Given the description of an element on the screen output the (x, y) to click on. 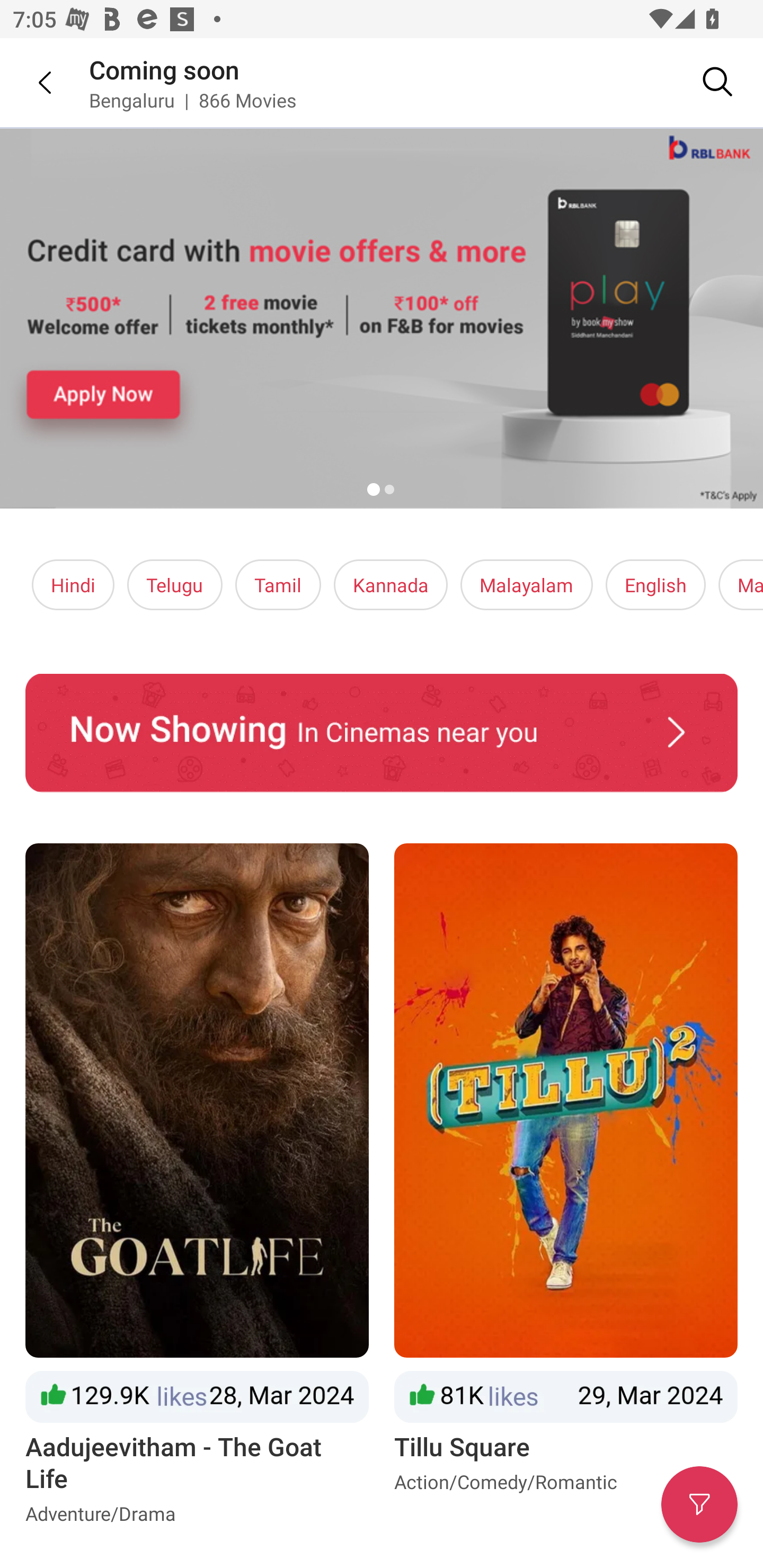
Back (31, 82)
Coming soon (164, 68)
Bengaluru  |  866 Movies (192, 99)
Hindi (73, 584)
Telugu (174, 584)
Tamil (278, 584)
Kannada (390, 584)
Malayalam (526, 584)
English (655, 584)
Aadujeevitham - The Goat Life Adventure/Drama (196, 1187)
Tillu Square Action/Comedy/Romantic (565, 1187)
Filter (699, 1504)
